Given the description of an element on the screen output the (x, y) to click on. 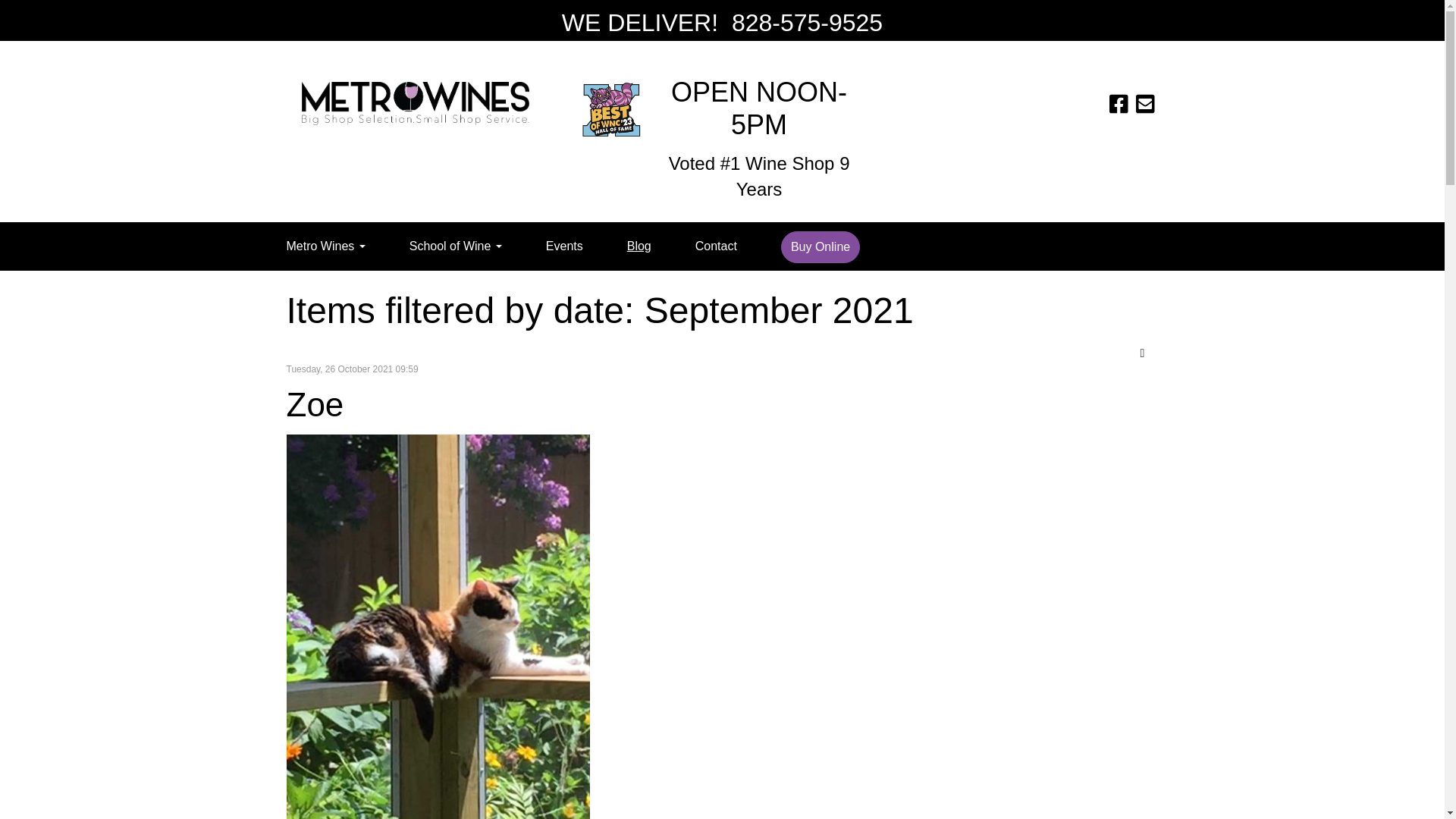
Main-Logo-Black image (415, 103)
Buy Online (820, 246)
WE DELIVER!  828-575-9525 (722, 22)
Zoe (314, 404)
Contact (719, 246)
Subscribe to this RSS feed (1146, 349)
Events (568, 246)
School of Wine (459, 246)
Metro Wines (329, 246)
best-of-2023 image (611, 109)
